Given the description of an element on the screen output the (x, y) to click on. 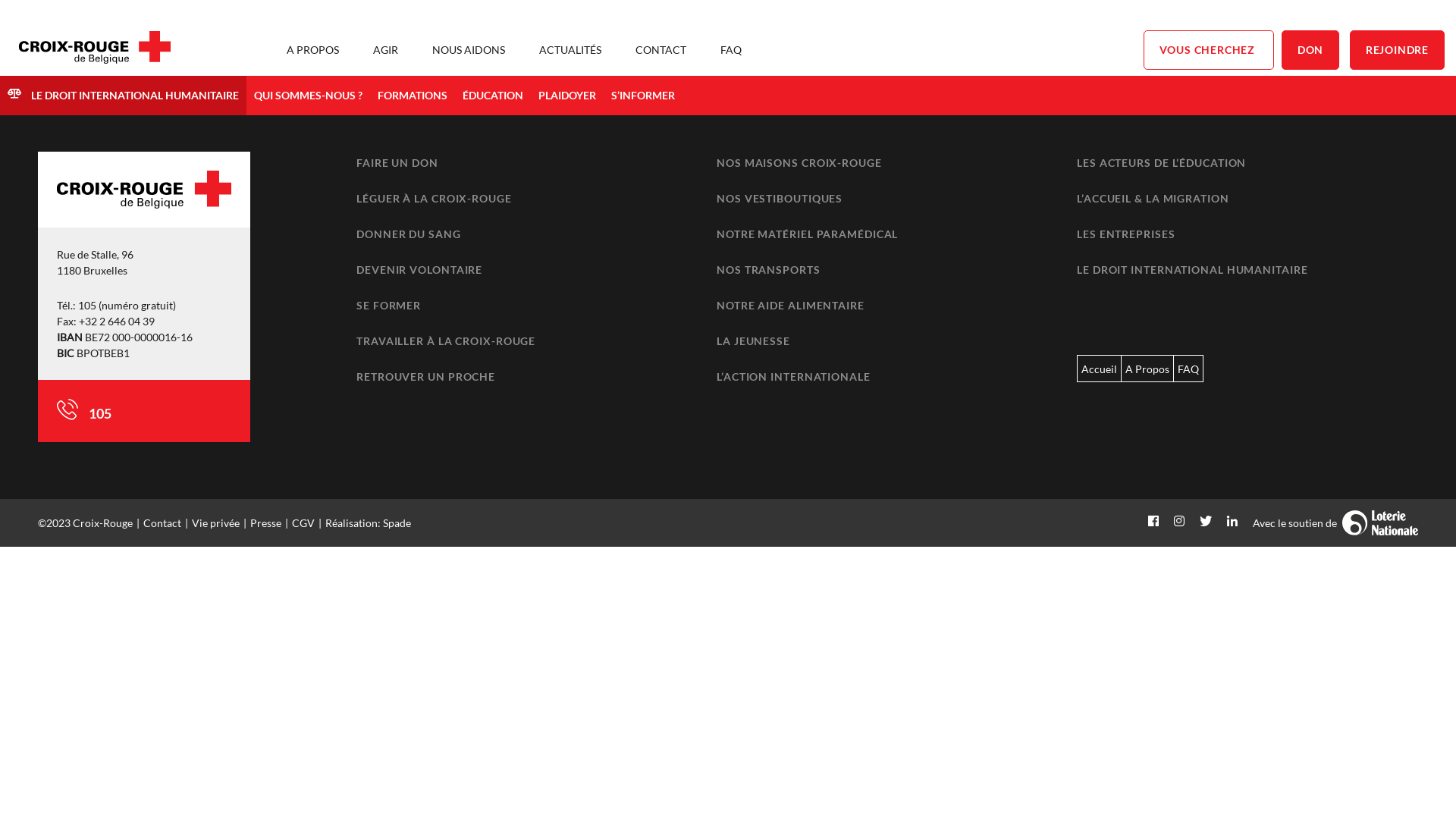
SE FORMER Element type: text (388, 304)
DEVENIR VOLONTAIRE Element type: text (419, 269)
FAQ Element type: text (730, 49)
DONNER DU SANG Element type: text (408, 233)
LE DROIT INTERNATIONAL HUMANITAIRE Element type: text (1192, 269)
RETROUVER UN PROCHE Element type: text (425, 376)
QUI SOMMES-NOUS ? Element type: text (308, 95)
NOS VESTIBOUTIQUES Element type: text (779, 197)
REJOINDRE Element type: text (1396, 49)
NOTRE AIDE ALIMENTAIRE Element type: text (790, 304)
LE DROIT INTERNATIONAL HUMANITAIRE Element type: text (123, 95)
PLAIDOYER Element type: text (566, 95)
Spade Element type: text (396, 522)
AGIR Element type: text (385, 49)
A Propos Element type: text (1147, 368)
NOUS AIDONS Element type: text (468, 49)
DON Element type: text (1310, 49)
LA JEUNESSE Element type: text (753, 340)
NOS MAISONS CROIX-ROUGE Element type: text (798, 162)
FAQ Element type: text (1187, 368)
Presse Element type: text (265, 522)
Accueil Element type: text (1099, 368)
NOS TRANSPORTS Element type: text (768, 269)
CGV Element type: text (302, 522)
LES ENTREPRISES Element type: text (1125, 233)
VOUS CHERCHEZ Element type: text (1208, 49)
CONTACT Element type: text (660, 49)
Avec le soutien de Element type: text (1335, 522)
105 Element type: text (98, 412)
FORMATIONS Element type: text (412, 95)
A PROPOS Element type: text (312, 49)
Contact Element type: text (162, 522)
FAIRE UN DON Element type: text (397, 162)
